Given the description of an element on the screen output the (x, y) to click on. 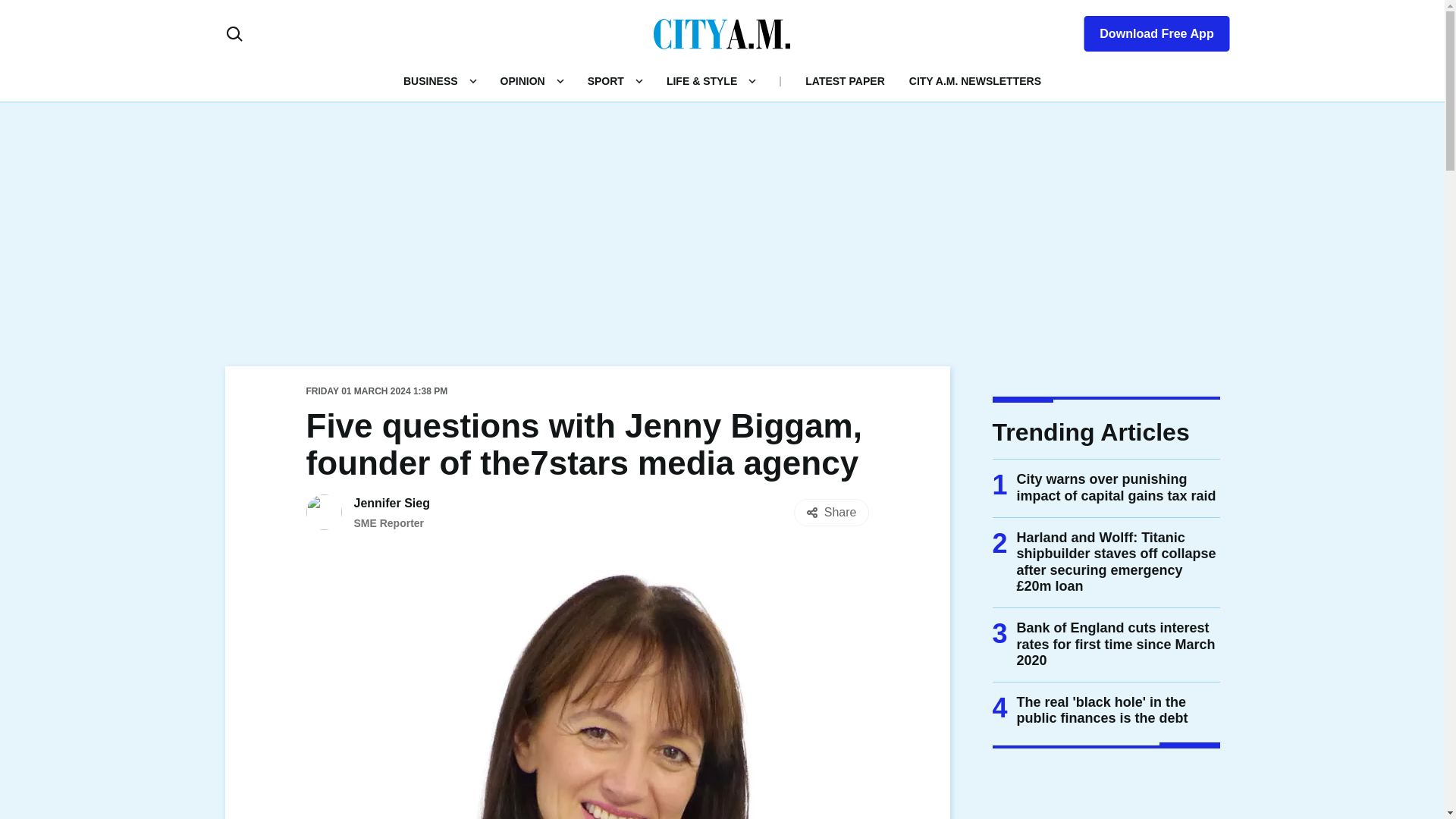
Download Free App (1146, 30)
OPINION (522, 80)
BUSINESS (430, 80)
CityAM (721, 33)
SPORT (606, 80)
